Given the description of an element on the screen output the (x, y) to click on. 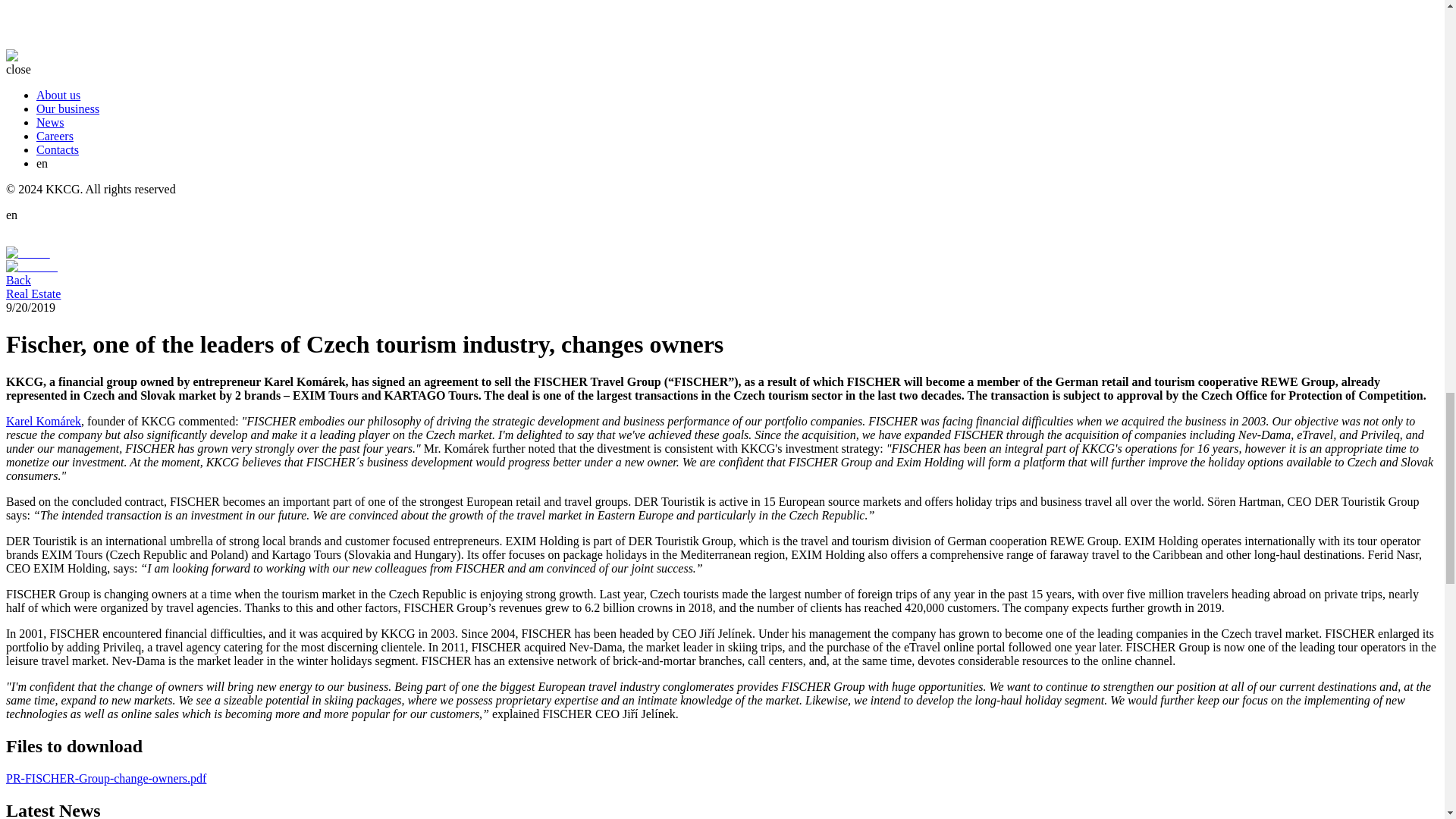
Contacts (57, 149)
Careers (55, 135)
PR-FISCHER-Group-change-owners.pdf (105, 778)
Real Estate (33, 293)
News (50, 122)
Our business (67, 108)
Back (17, 279)
About us (58, 94)
